Given the description of an element on the screen output the (x, y) to click on. 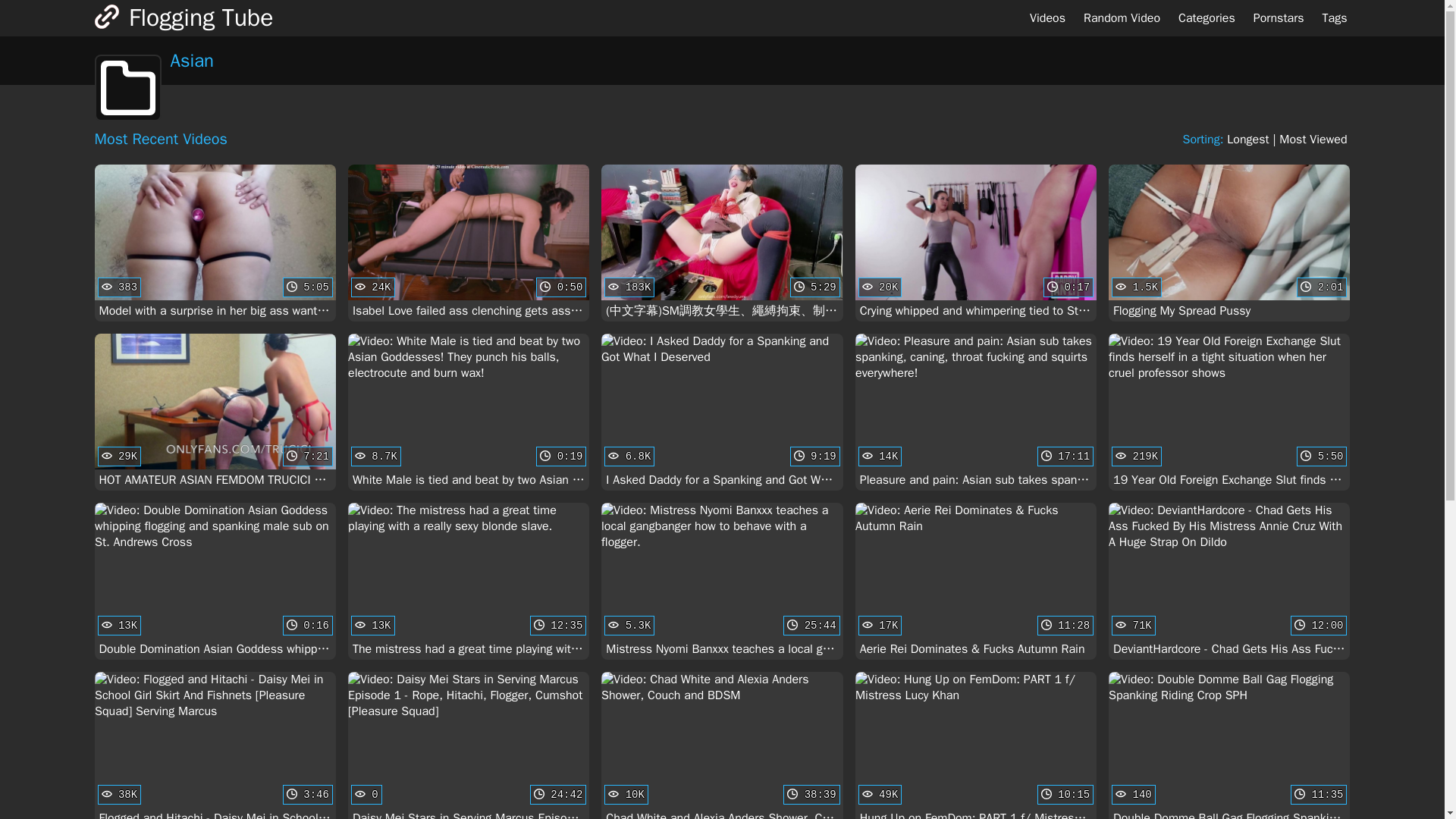
Flogging My Spread Pussy (1228, 242)
Model with a surprise in her big ass wants sex (215, 242)
Videos (1047, 18)
Most Viewed (215, 242)
Longest (1312, 139)
Isabel Love failed ass clenching gets asshole brushed clean (1247, 139)
